Given the description of an element on the screen output the (x, y) to click on. 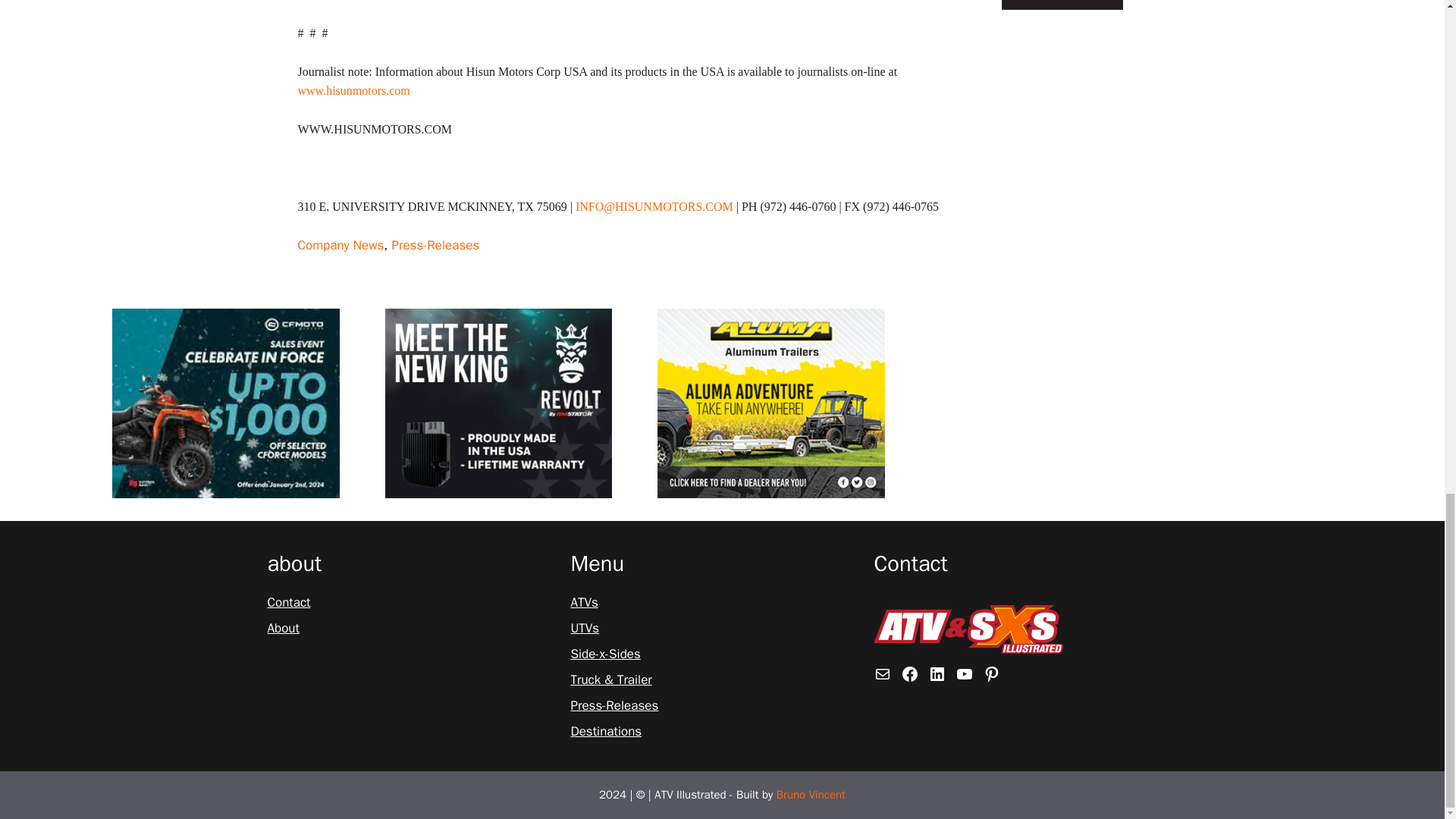
Press-Releases (435, 245)
UTVs (584, 628)
Logo-250-w (967, 629)
Destinations (606, 731)
Contact (288, 602)
About (282, 628)
Side-x-Sides (605, 654)
Press-Releases (614, 705)
Company News (340, 245)
ATVs (583, 602)
